Given the description of an element on the screen output the (x, y) to click on. 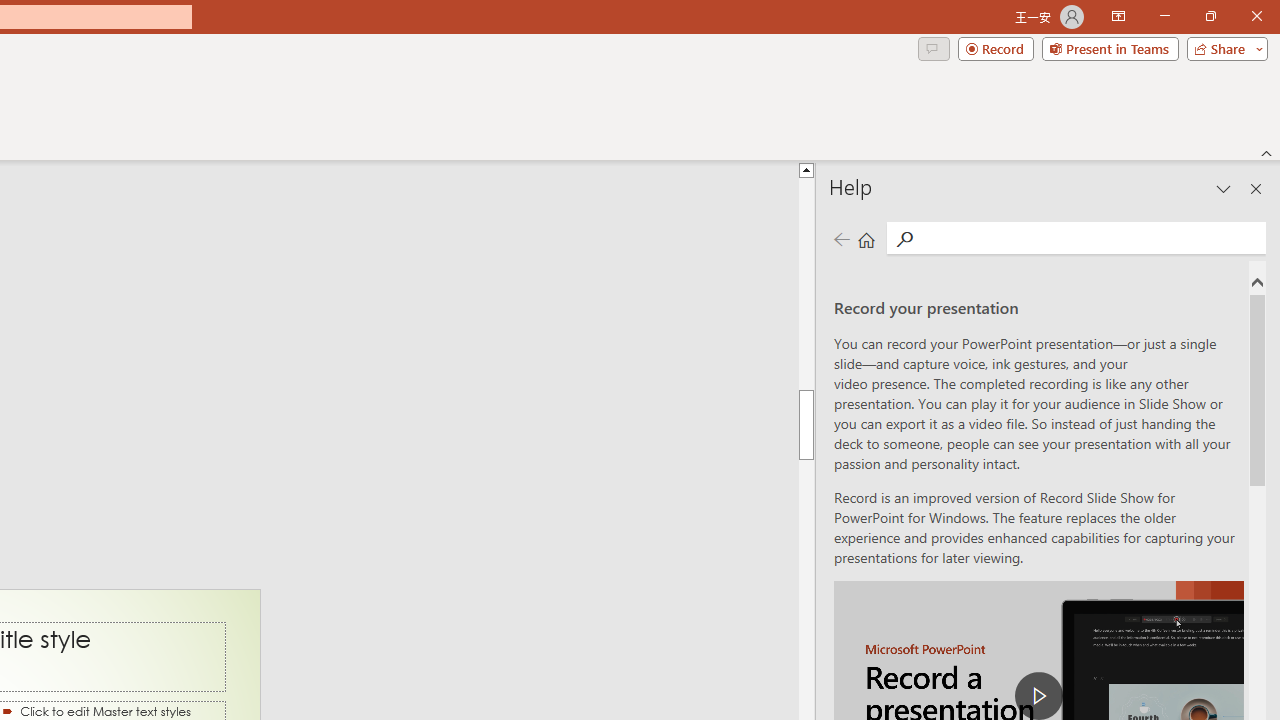
Search (1089, 237)
Previous page (841, 238)
Page up (806, 283)
Search (904, 238)
Line up (806, 169)
